Given the description of an element on the screen output the (x, y) to click on. 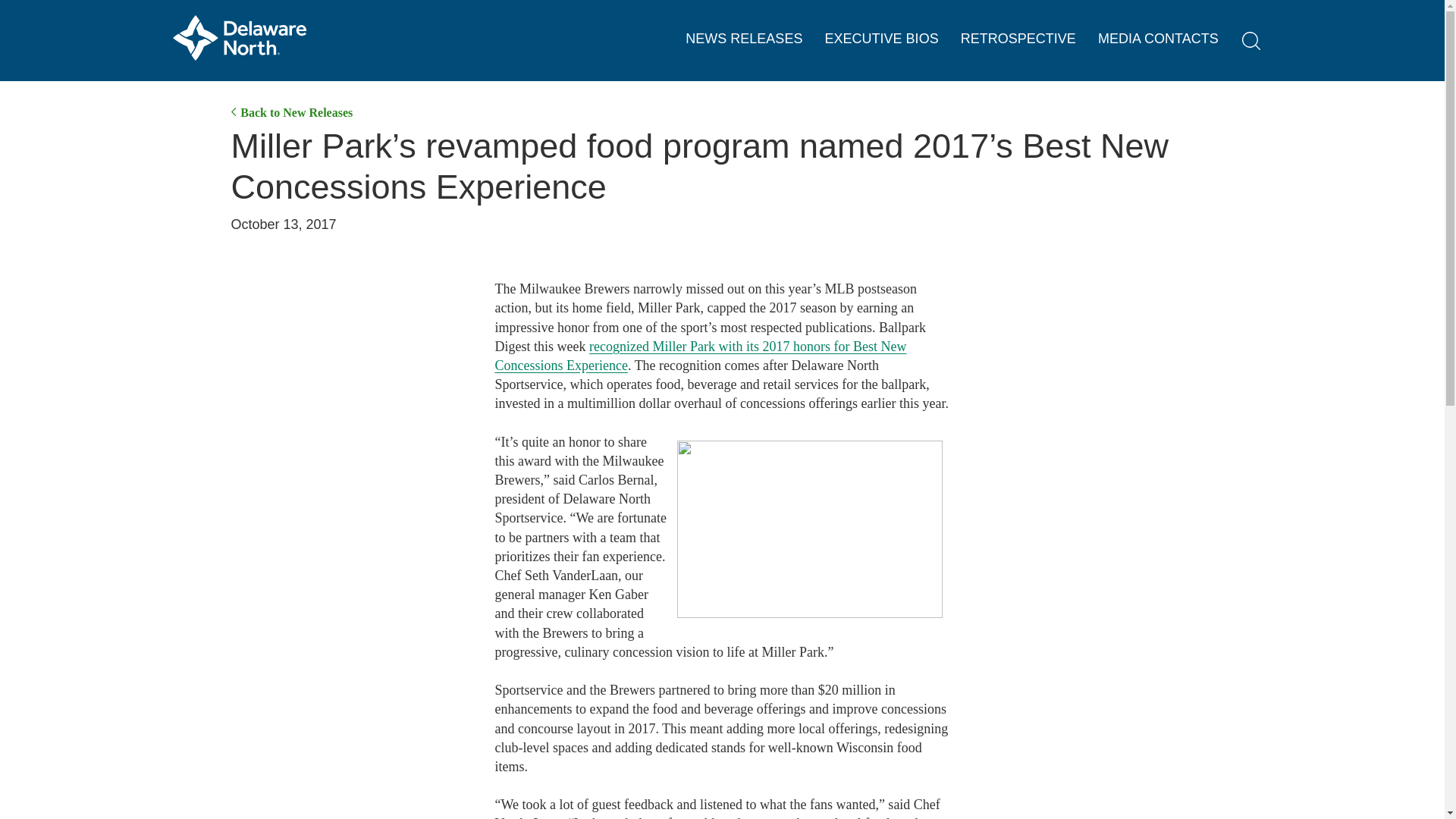
MEDIA CONTACTS (1157, 39)
Back to New Releases (291, 112)
EXECUTIVE BIOS (882, 39)
RETROSPECTIVE (1017, 39)
NEWS RELEASES (743, 39)
